Given the description of an element on the screen output the (x, y) to click on. 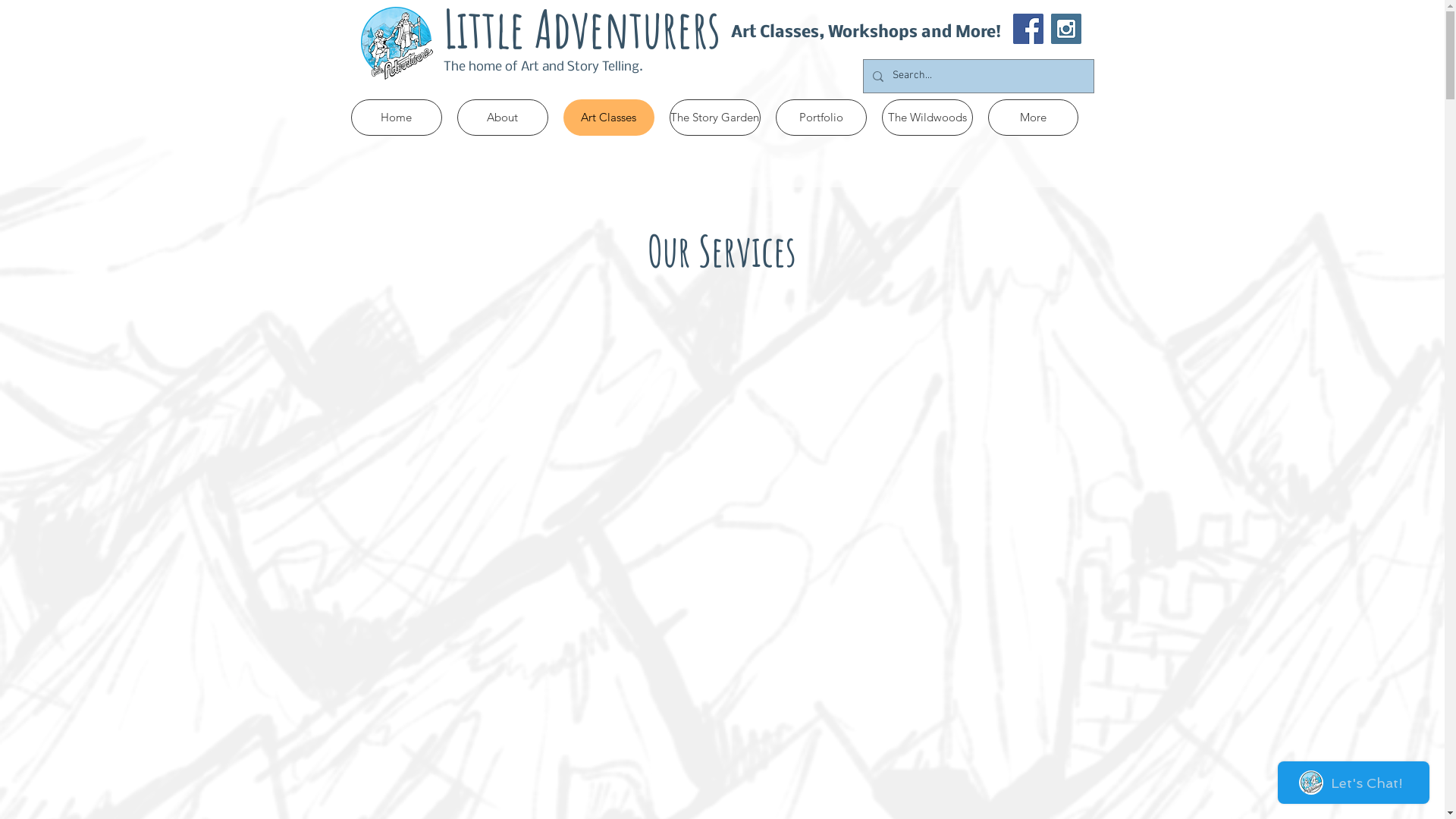
Home Element type: text (395, 117)
The Story Garden Element type: text (713, 117)
About Element type: text (501, 117)
Art Classes Element type: text (607, 117)
Art Classes, Workshops and More! Element type: text (866, 30)
Portfolio Element type: text (820, 117)
The Wildwoods Element type: text (926, 117)
